Given the description of an element on the screen output the (x, y) to click on. 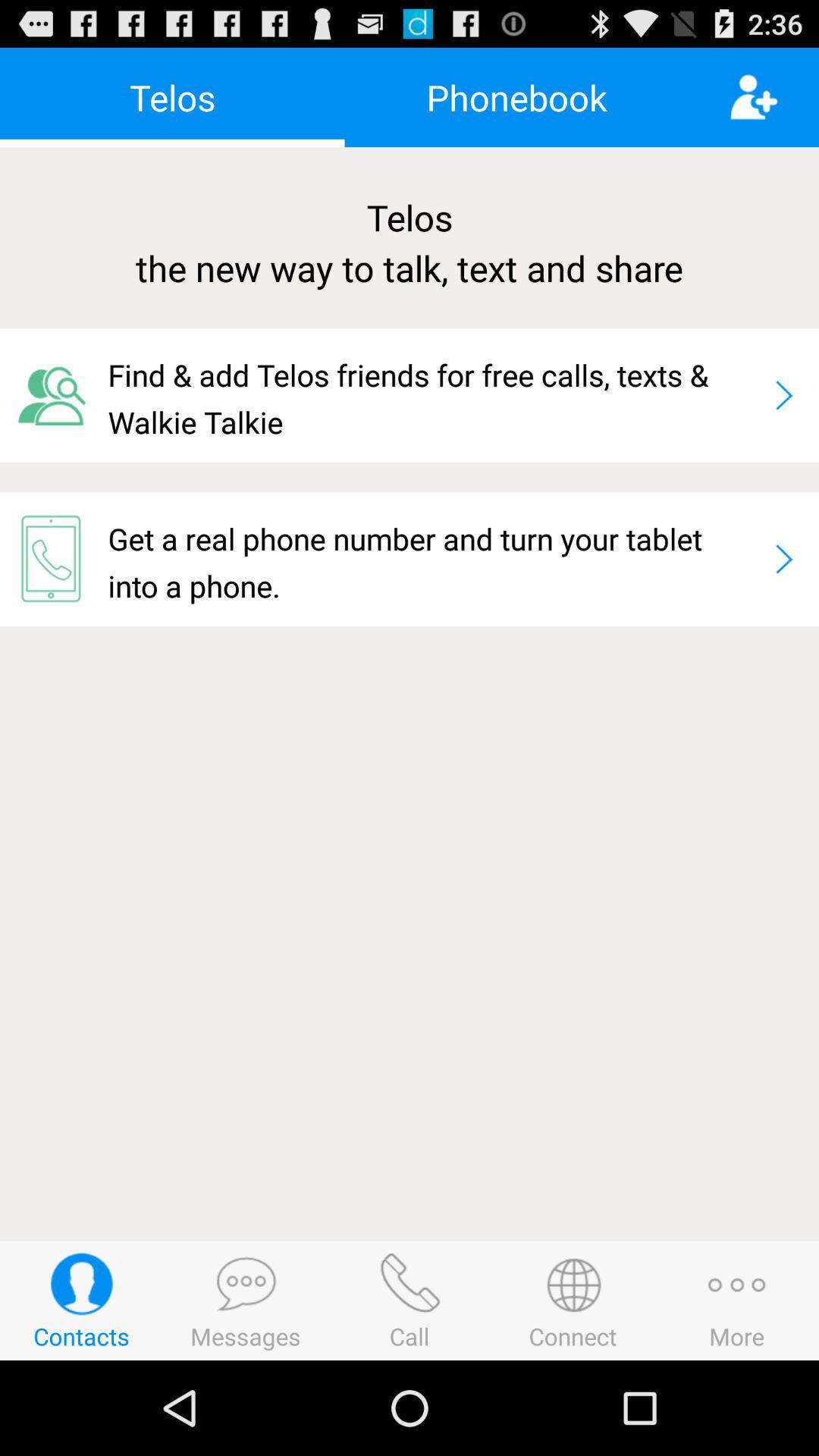
turn on icon above the get a real item (433, 395)
